Given the description of an element on the screen output the (x, y) to click on. 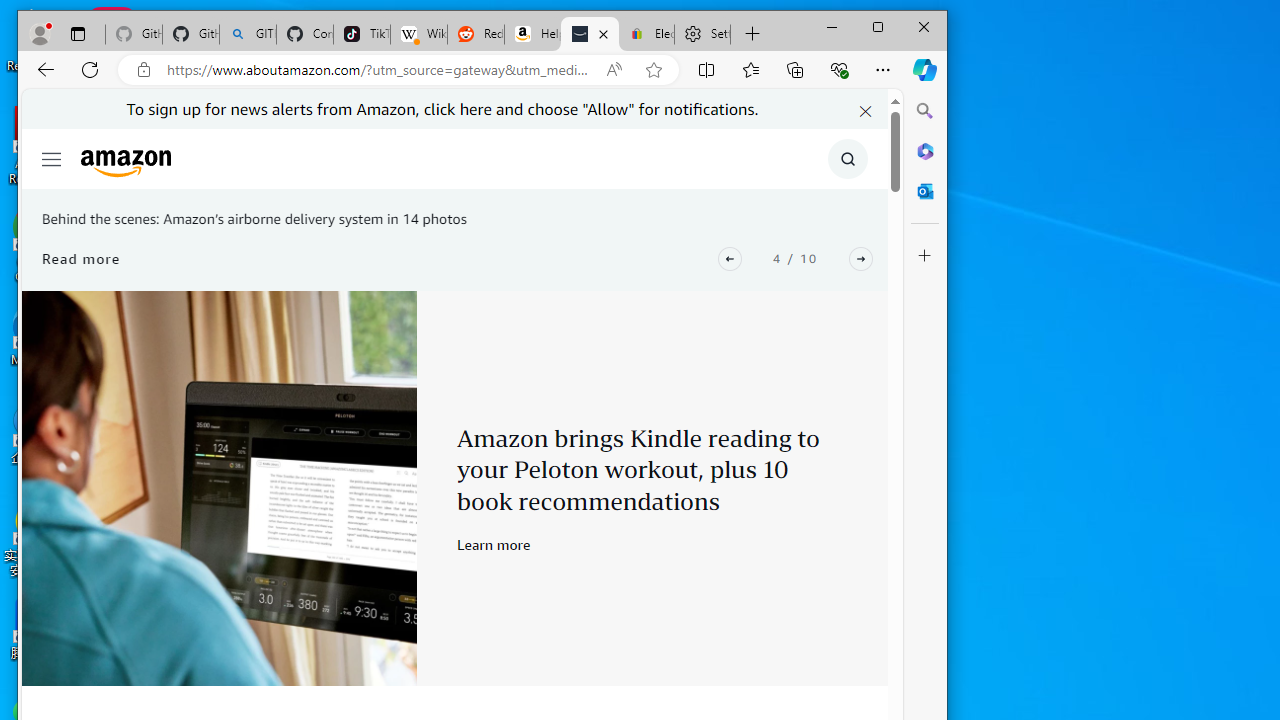
Favorites (750, 69)
Class: flickity-button-icon (861, 258)
Reddit - Dive into anything (476, 34)
Collections (794, 69)
Customize (925, 256)
Browser essentials (838, 69)
Address and search bar (380, 69)
Split screen (707, 69)
About Amazon (589, 34)
Previous (730, 258)
Learn more (493, 544)
Close (924, 26)
Menu (50, 158)
